Given the description of an element on the screen output the (x, y) to click on. 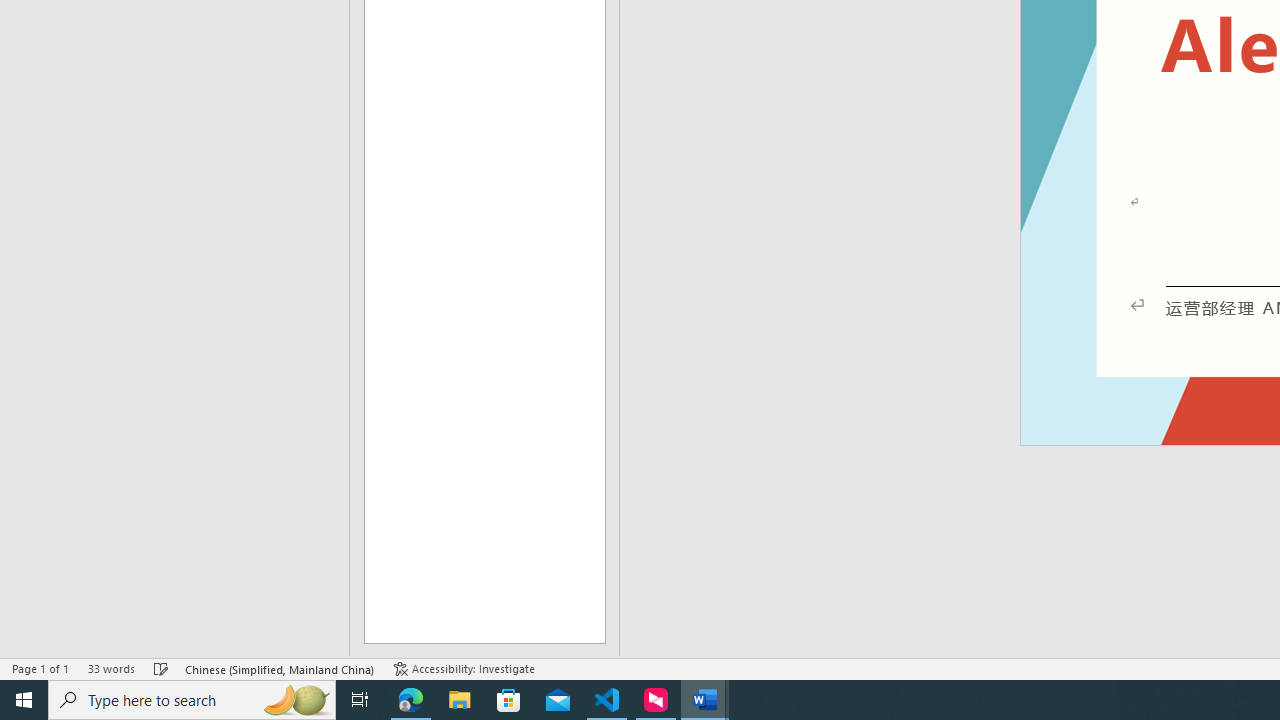
Page Number Page 1 of 1 (39, 668)
Accessibility Checker Accessibility: Investigate (464, 668)
Spelling and Grammar Check Checking (161, 668)
Language Chinese (Simplified, Mainland China) (279, 668)
